Given the description of an element on the screen output the (x, y) to click on. 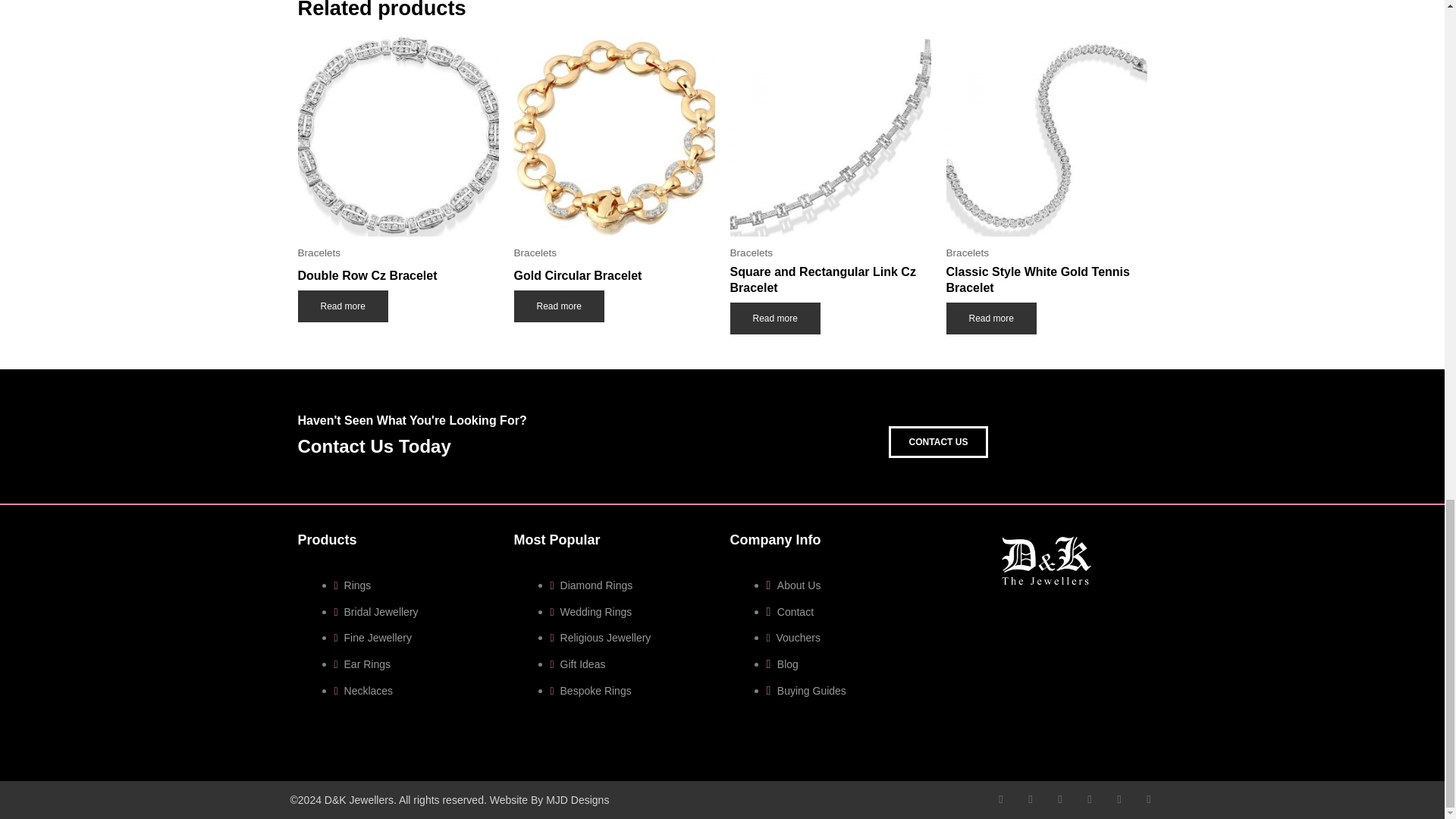
Square and Rectangular Link Cz Bracelet (829, 283)
Read more (342, 306)
Read more (774, 318)
Read more (558, 306)
Gold Circular Bracelet (613, 279)
Double Row Cz Bracelet (397, 279)
